Given the description of an element on the screen output the (x, y) to click on. 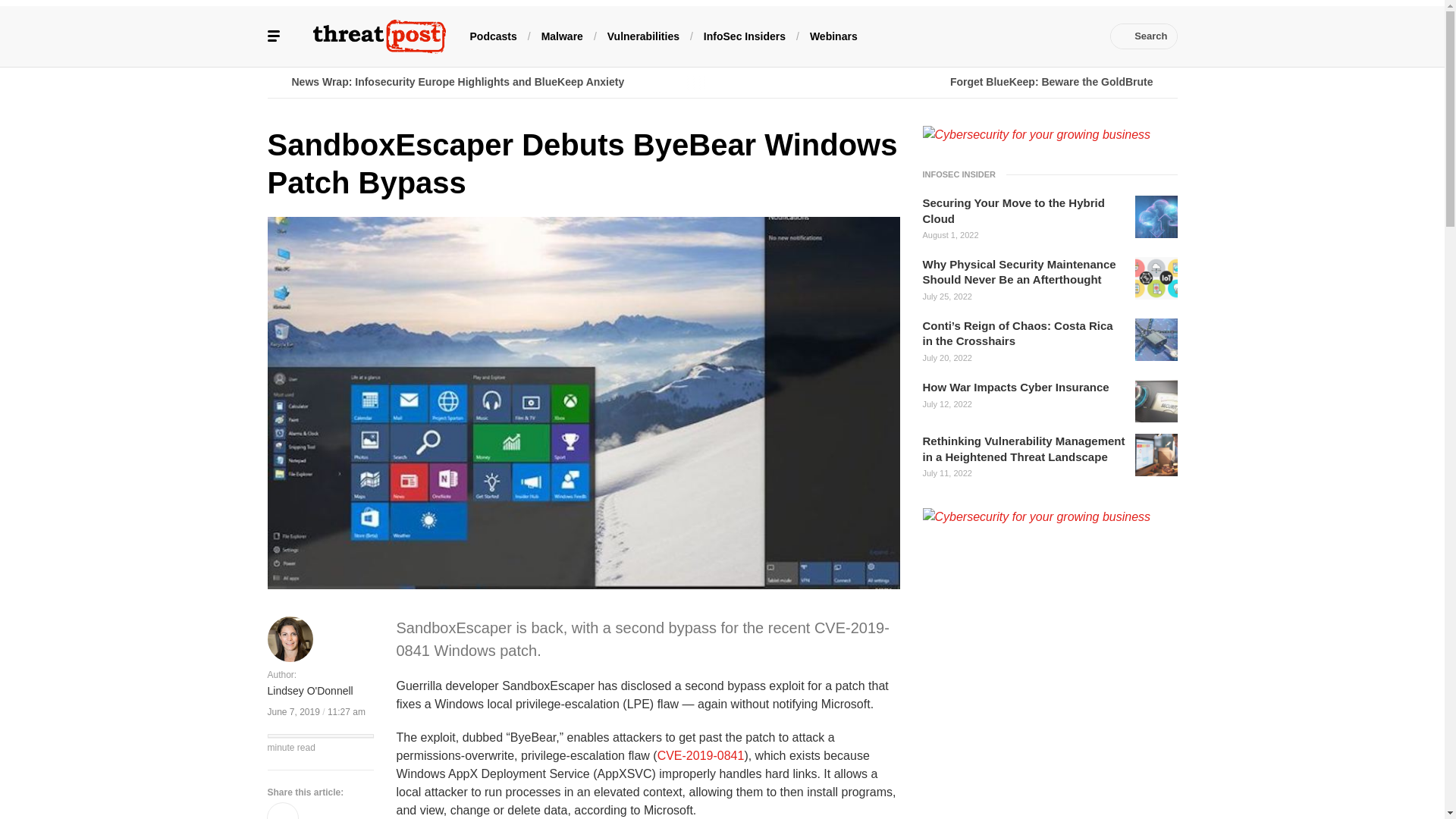
CVE-2019-0841 (701, 755)
RSS (1080, 36)
Instagram (1057, 36)
Vulnerabilities (643, 35)
Malware (562, 35)
Facebook (944, 36)
Podcasts (493, 35)
Webinars (833, 35)
Search (1143, 36)
